Given the description of an element on the screen output the (x, y) to click on. 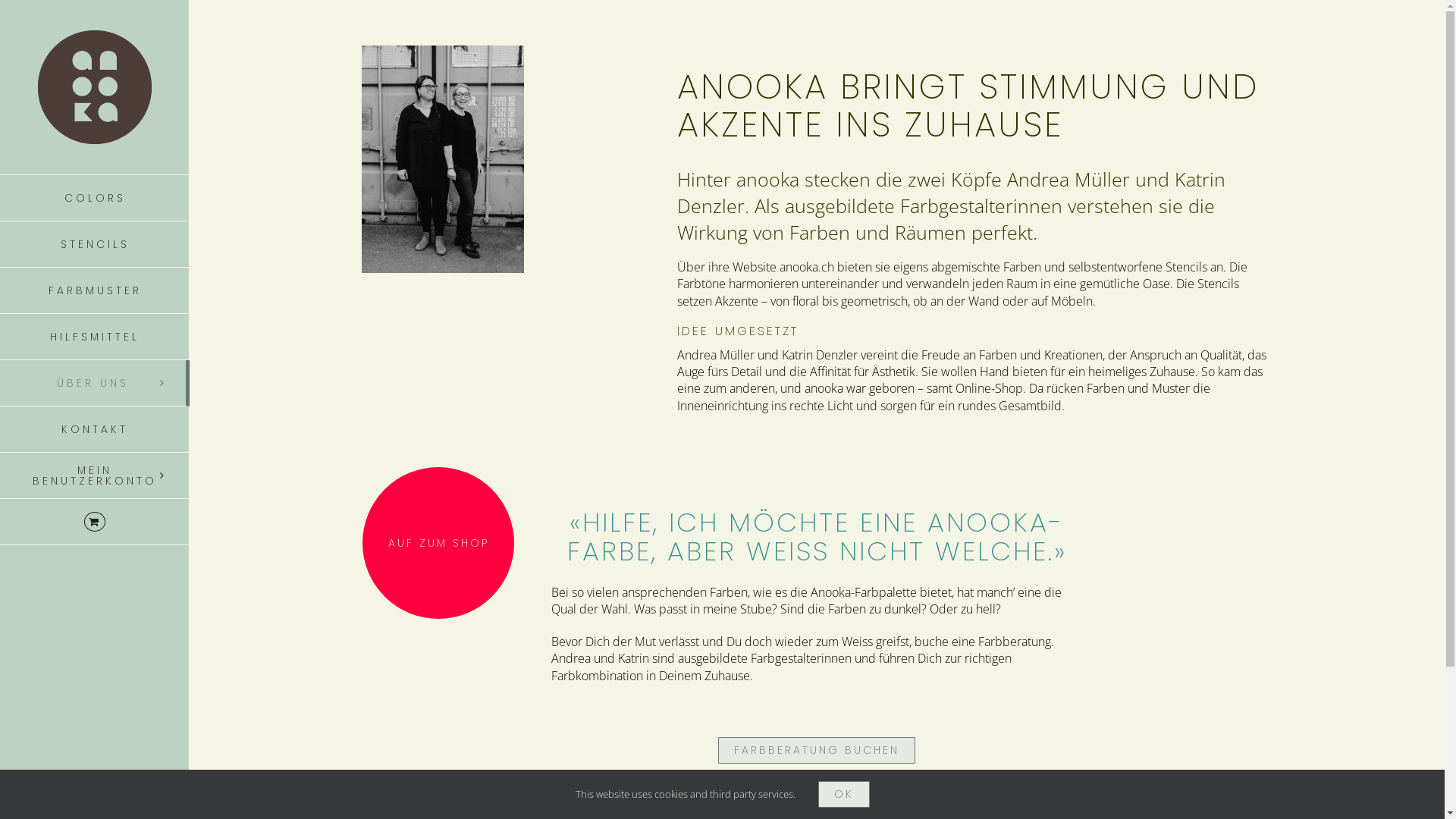
KONTAKT Element type: text (94, 429)
OK Element type: text (843, 794)
COLORS Element type: text (94, 197)
2023-02.Anooka(550)-2 Element type: hover (442, 159)
AUF ZUM SHOP Element type: text (438, 542)
STENCILS Element type: text (94, 244)
Anmelden Element type: text (266, 596)
FARBMUSTER Element type: text (94, 290)
HILFSMITTEL Element type: text (94, 336)
MEIN BENUTZERKONTO Element type: text (94, 475)
FARBBERATUNG BUCHEN Element type: text (816, 750)
